Given the description of an element on the screen output the (x, y) to click on. 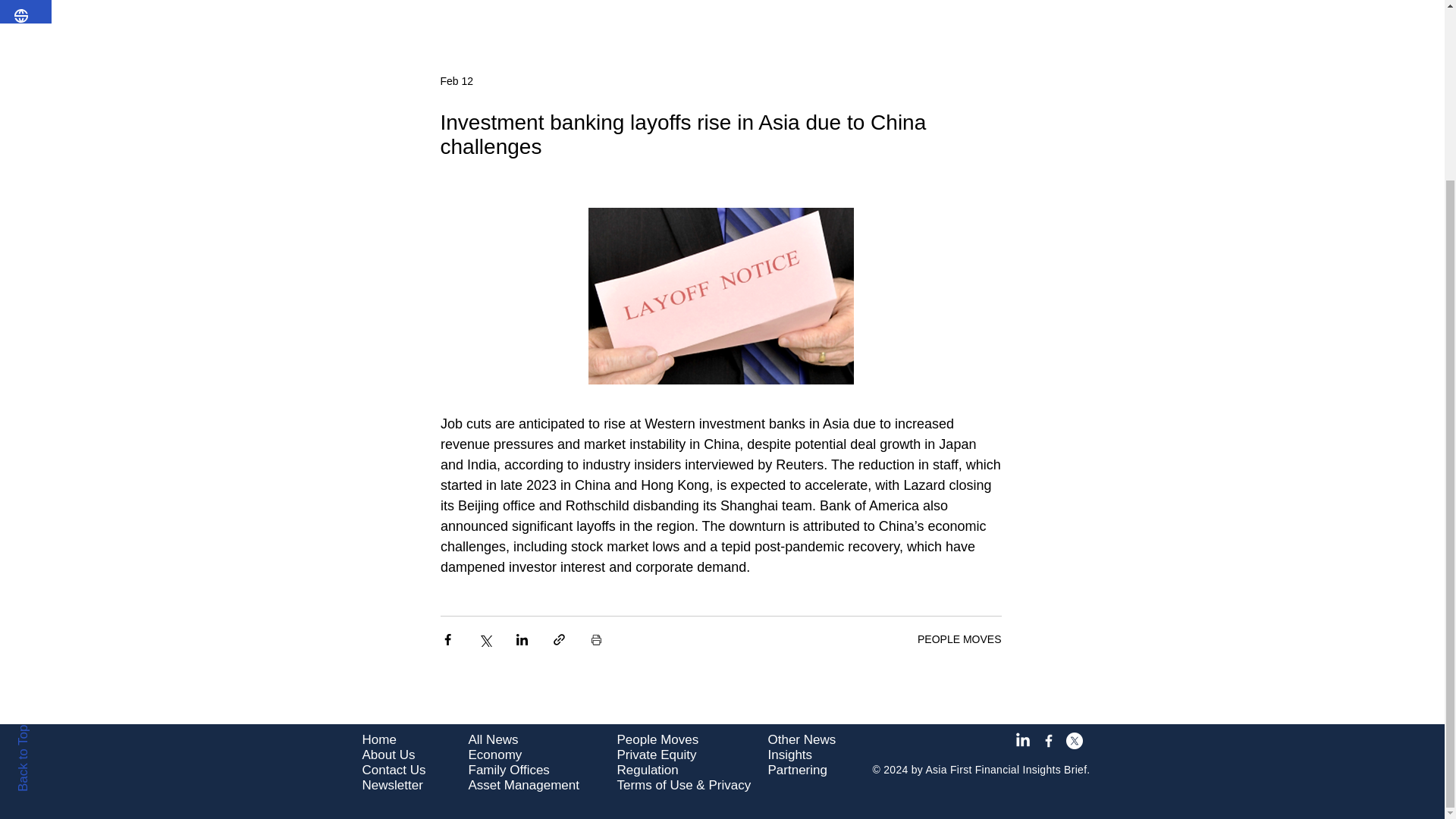
Newsletter (392, 785)
Home (379, 739)
Feb 12 (456, 80)
PEOPLE MOVES (959, 639)
Economy (495, 754)
People Moves (657, 739)
Private Equity (657, 754)
Asset Management (523, 785)
Contact Us (394, 769)
All News (493, 739)
About Us (388, 754)
Regulation (647, 769)
Family Offices (509, 769)
Back to Top (49, 509)
